Given the description of an element on the screen output the (x, y) to click on. 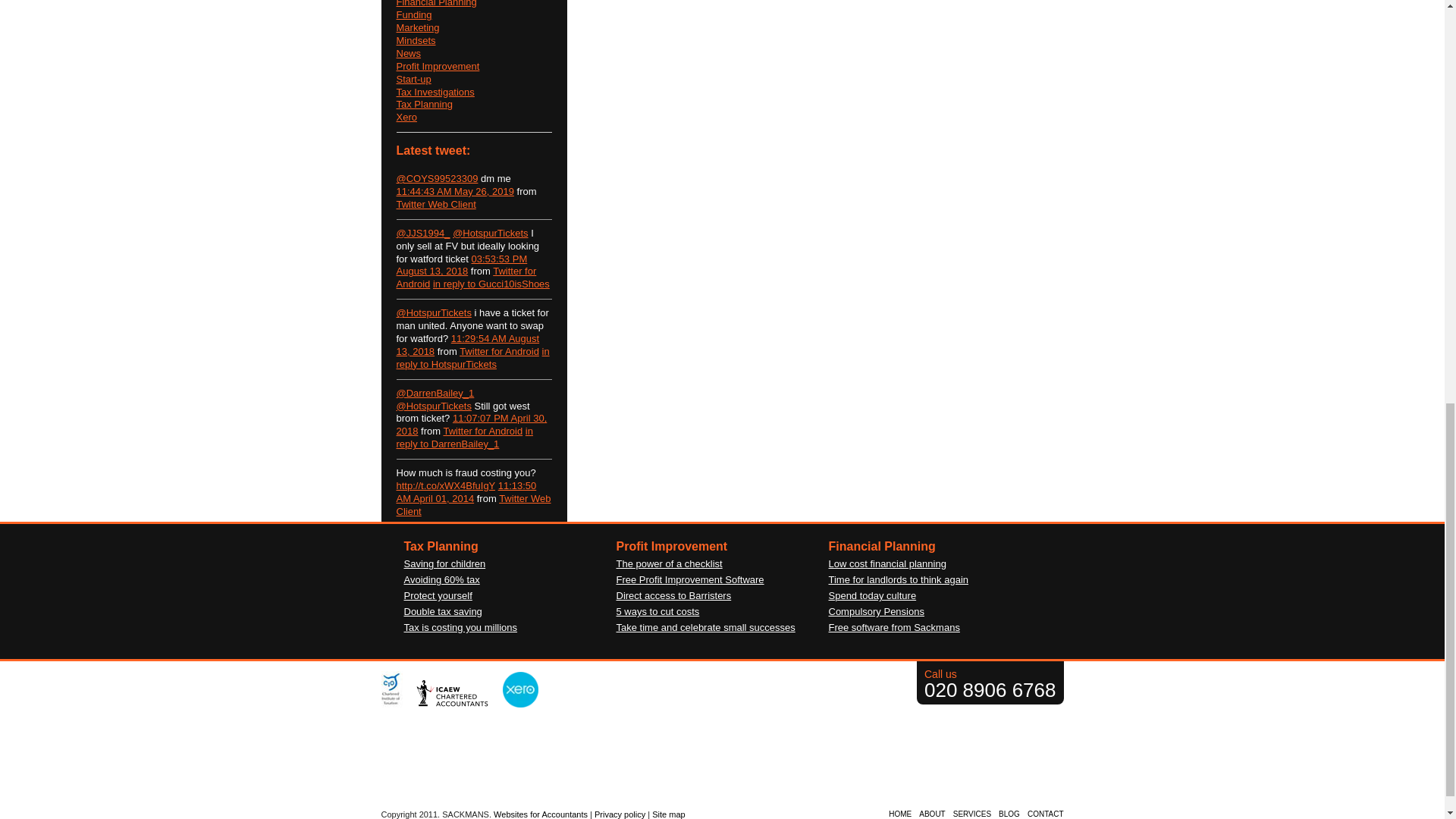
Xero (405, 116)
Profit Improvement (437, 66)
Mindsets (414, 40)
Twitter for Android (482, 430)
11:29:54 AM August 13, 2018 (467, 344)
11:07:07 PM April 30, 2018 (471, 424)
Funding (413, 14)
03:53:53 PM August 13, 2018 (461, 265)
Twitter for Android (499, 351)
in reply to HotspurTickets (472, 357)
